Given the description of an element on the screen output the (x, y) to click on. 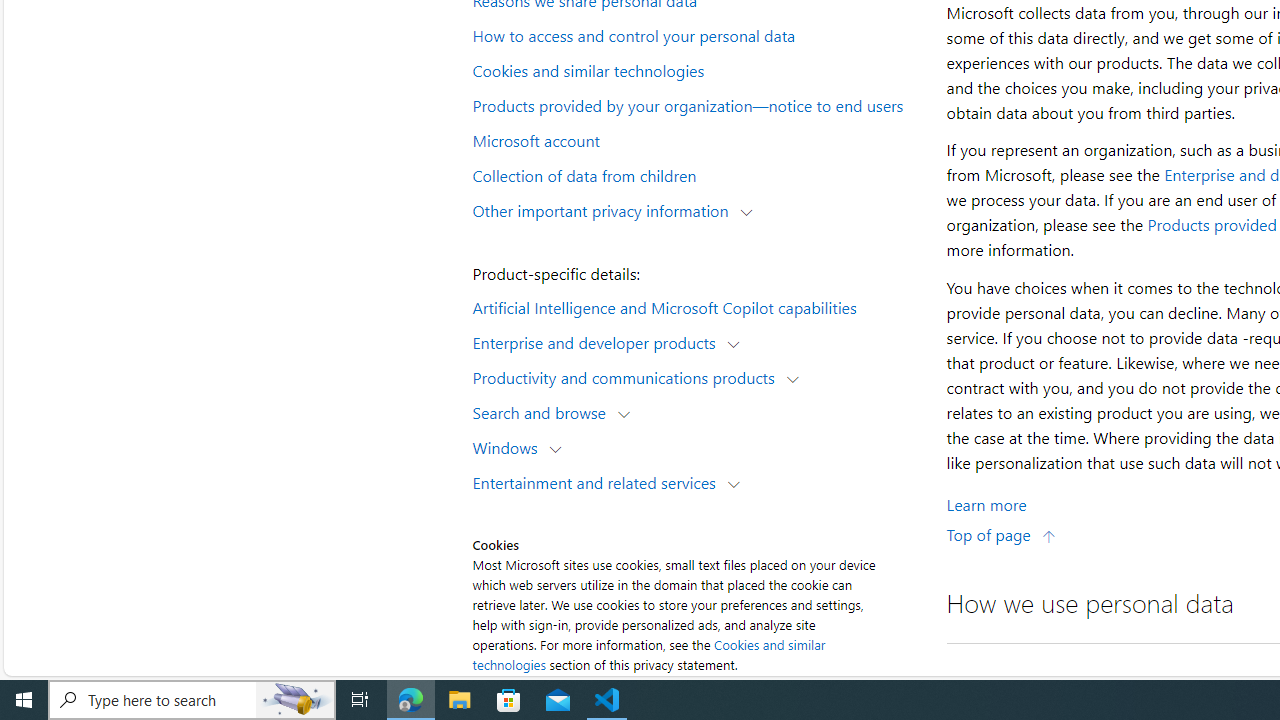
Cookies and similar technologies (696, 69)
Top of page (1001, 534)
Cookies and similar technologies (648, 654)
How to access and control your personal data (696, 35)
Windows (509, 446)
Artificial Intelligence and Microsoft Copilot capabilities (696, 306)
Microsoft account (696, 139)
Enterprise and developer products (598, 341)
Learn More about Personal data we collect (985, 504)
Other important privacy information (605, 209)
Search and browse (543, 412)
Productivity and communications products (628, 376)
Entertainment and related services (598, 481)
